Given the description of an element on the screen output the (x, y) to click on. 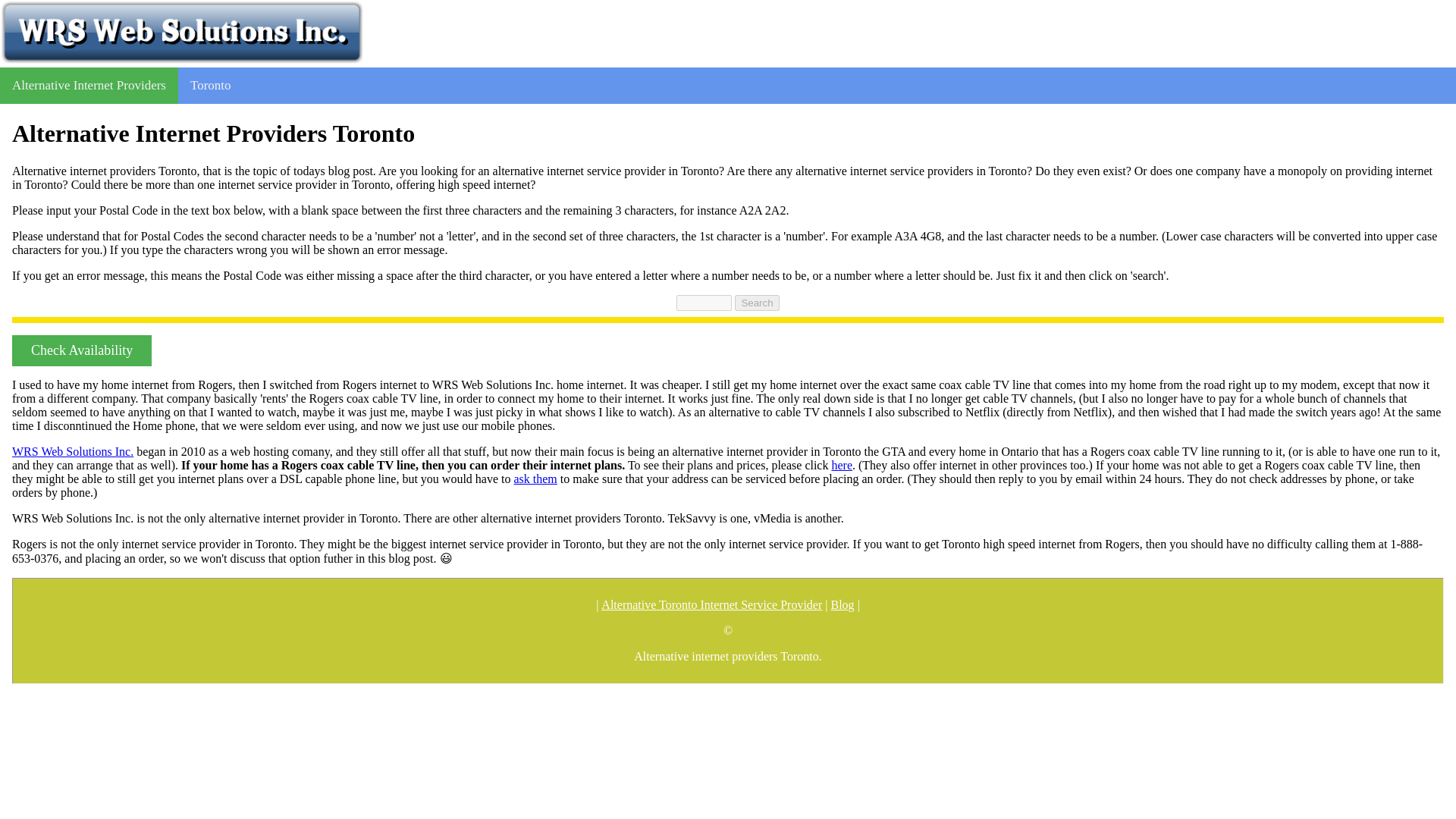
Check Availability (81, 350)
Toronto (210, 85)
Search (756, 302)
Blog (842, 604)
ask them (534, 479)
Alternative Internet Providers (88, 85)
Search (756, 302)
here (841, 465)
Alternative Toronto Internet Service Provider (711, 604)
WRS Web Solutions Inc. (72, 451)
